Given the description of an element on the screen output the (x, y) to click on. 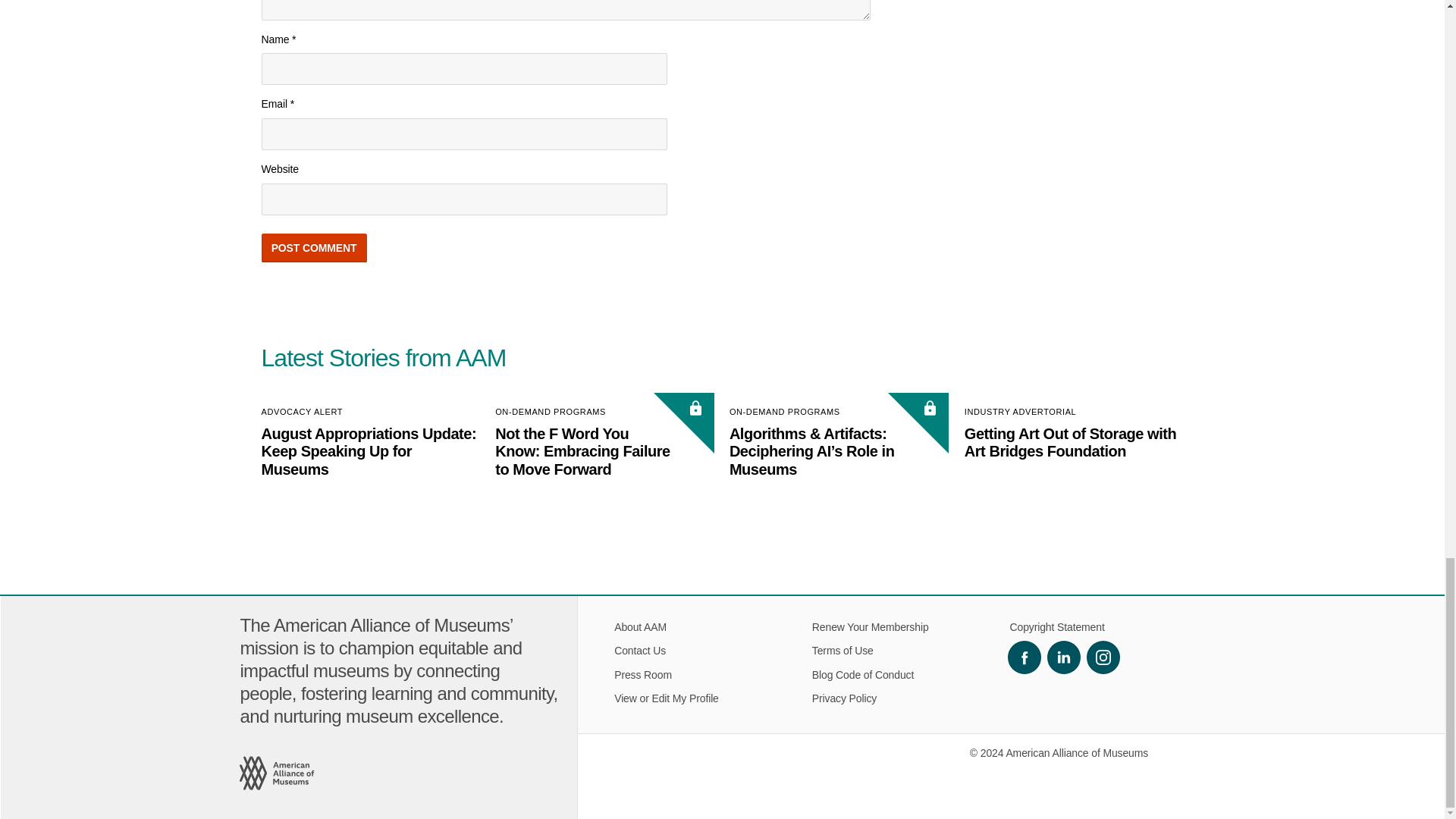
LinkedIn (1063, 657)
Instagram (1102, 657)
Post Comment (313, 247)
American Alliance of Museums (277, 773)
Facebook (1024, 657)
